Given the description of an element on the screen output the (x, y) to click on. 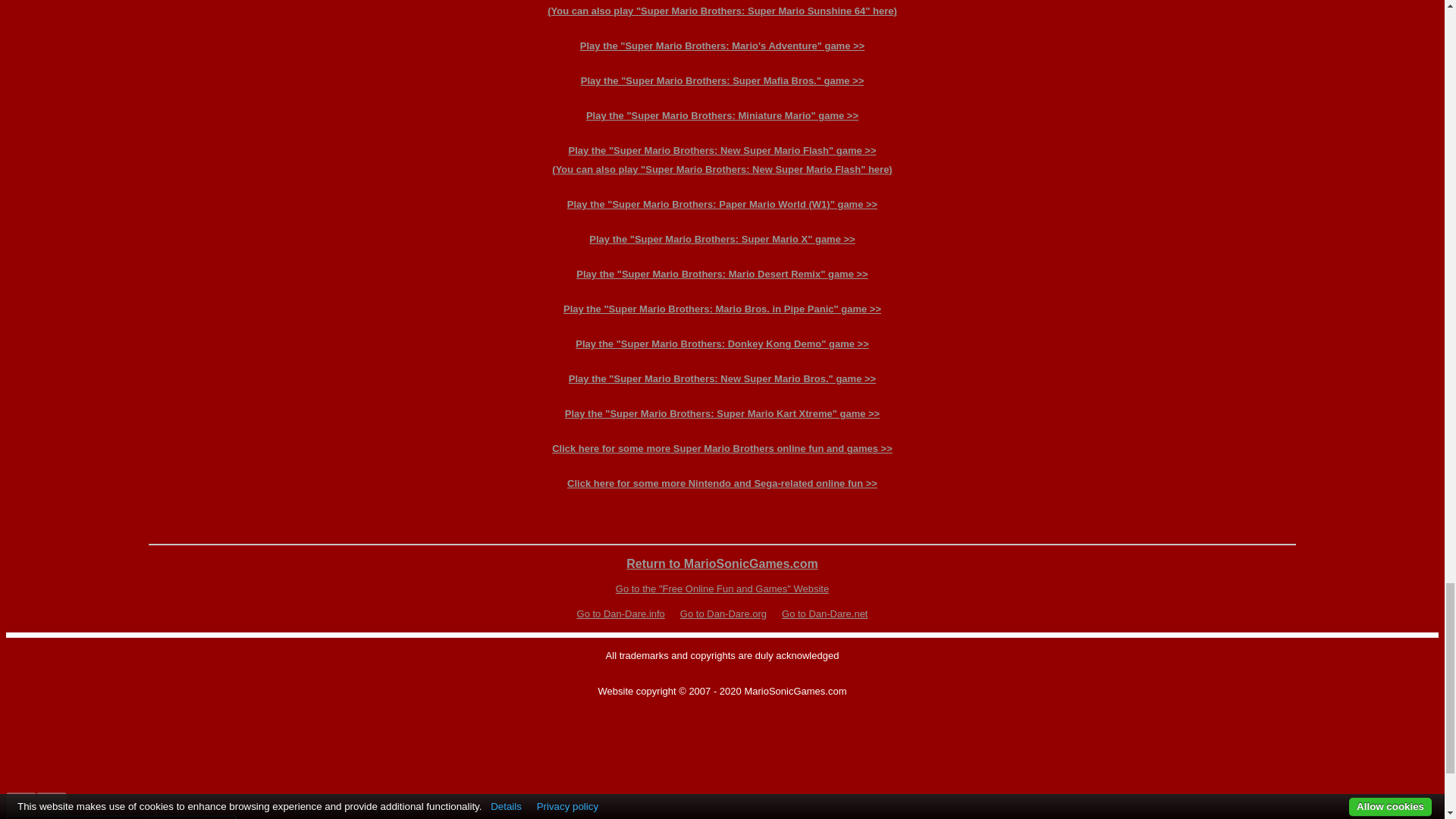
Go to the "Free Online Fun and Games" Website (721, 587)
Go to Dan-Dare.org (723, 612)
Go to Dan-Dare.net (824, 612)
Return to MarioSonicGames.com (722, 563)
Go to Dan-Dare.info (620, 612)
